Given the description of an element on the screen output the (x, y) to click on. 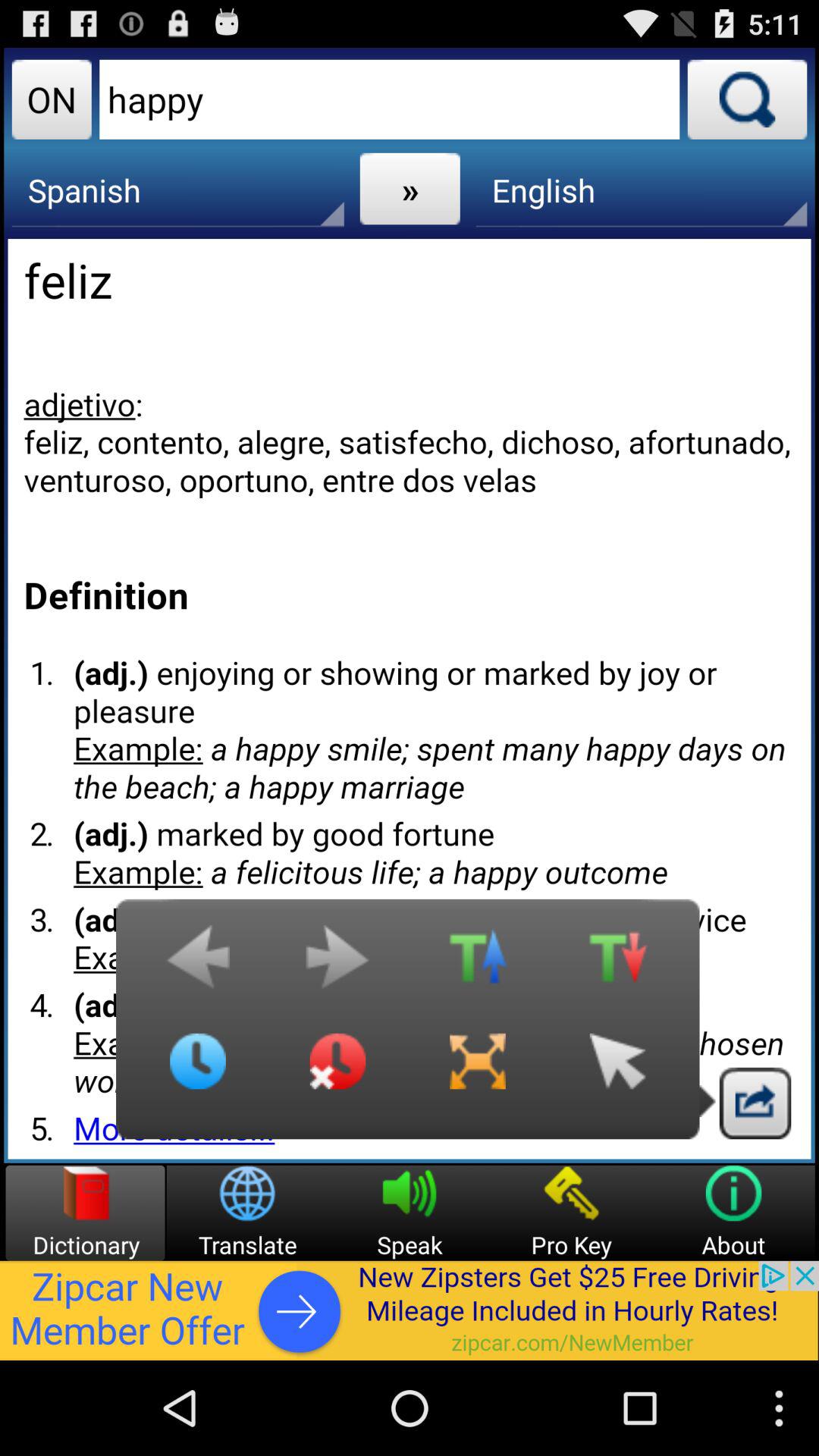
search (747, 99)
